Given the description of an element on the screen output the (x, y) to click on. 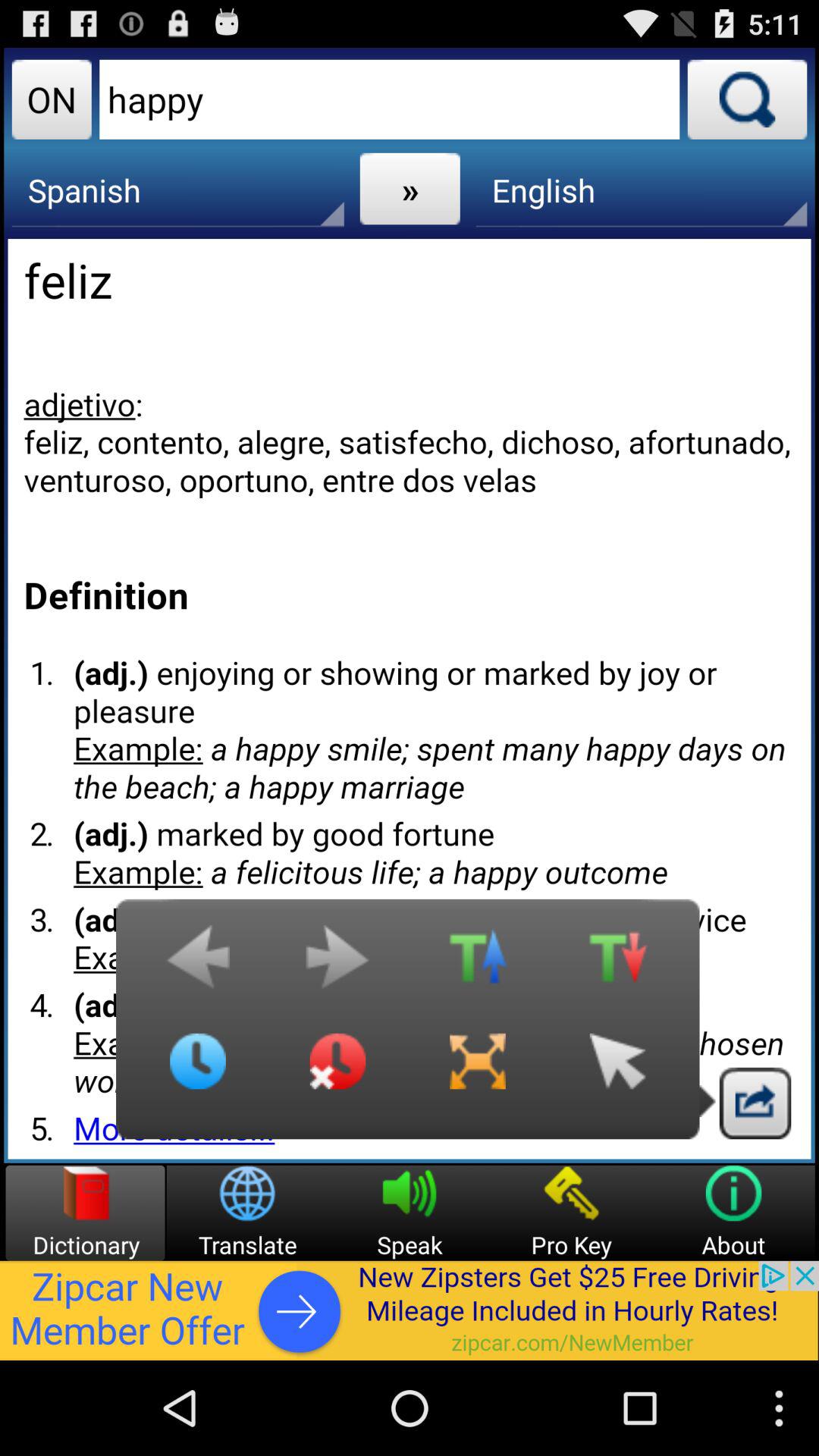
search (747, 99)
